Given the description of an element on the screen output the (x, y) to click on. 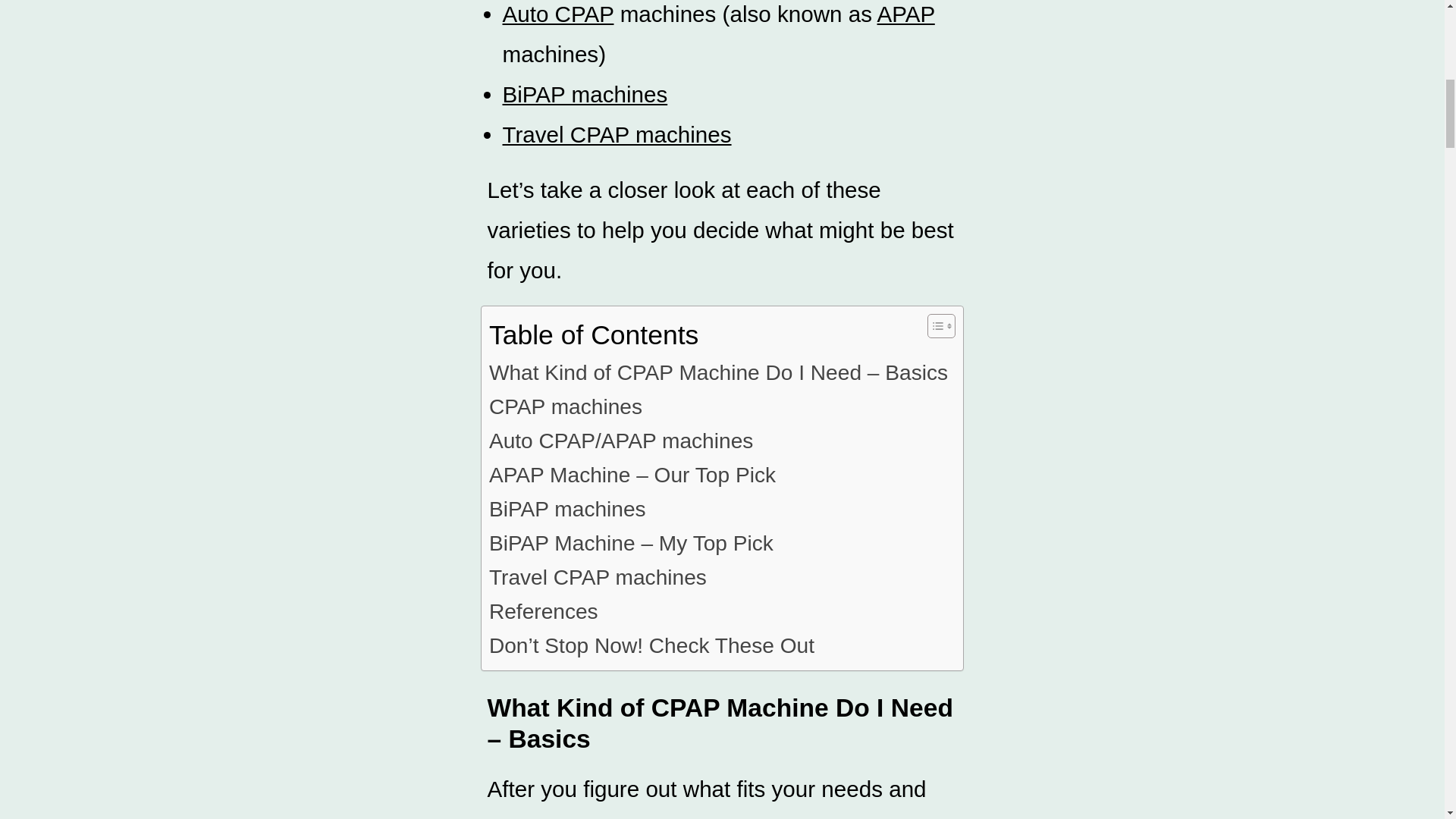
CPAP machines (565, 406)
Travel CPAP machines (597, 577)
BiPAP machines (567, 509)
References (543, 611)
BiPAP machines (584, 94)
Travel CPAP machines (597, 577)
References (543, 611)
Auto CPAP (557, 13)
APAP (905, 13)
Travel CPAP machines (616, 134)
BiPAP machines (567, 509)
CPAP machines (565, 406)
